Given the description of an element on the screen output the (x, y) to click on. 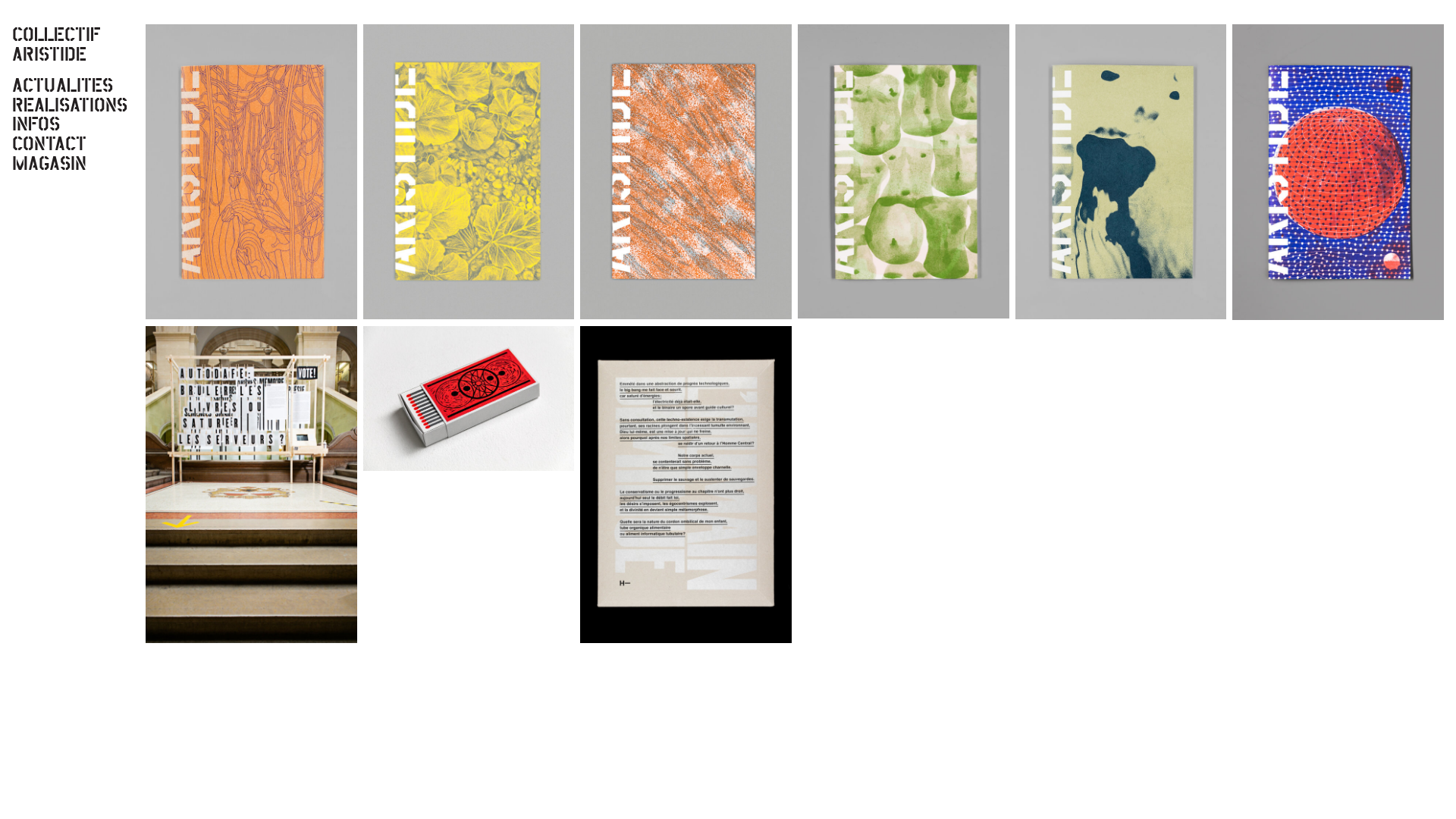
MAGASIN Element type: text (72, 162)
CONTACT Element type: text (72, 143)
COLLECTIF ARISTIDE Element type: text (60, 43)
ACTUALITES Element type: text (72, 84)
INFOS Element type: text (72, 123)
REALISATIONS Element type: text (72, 104)
